Given the description of an element on the screen output the (x, y) to click on. 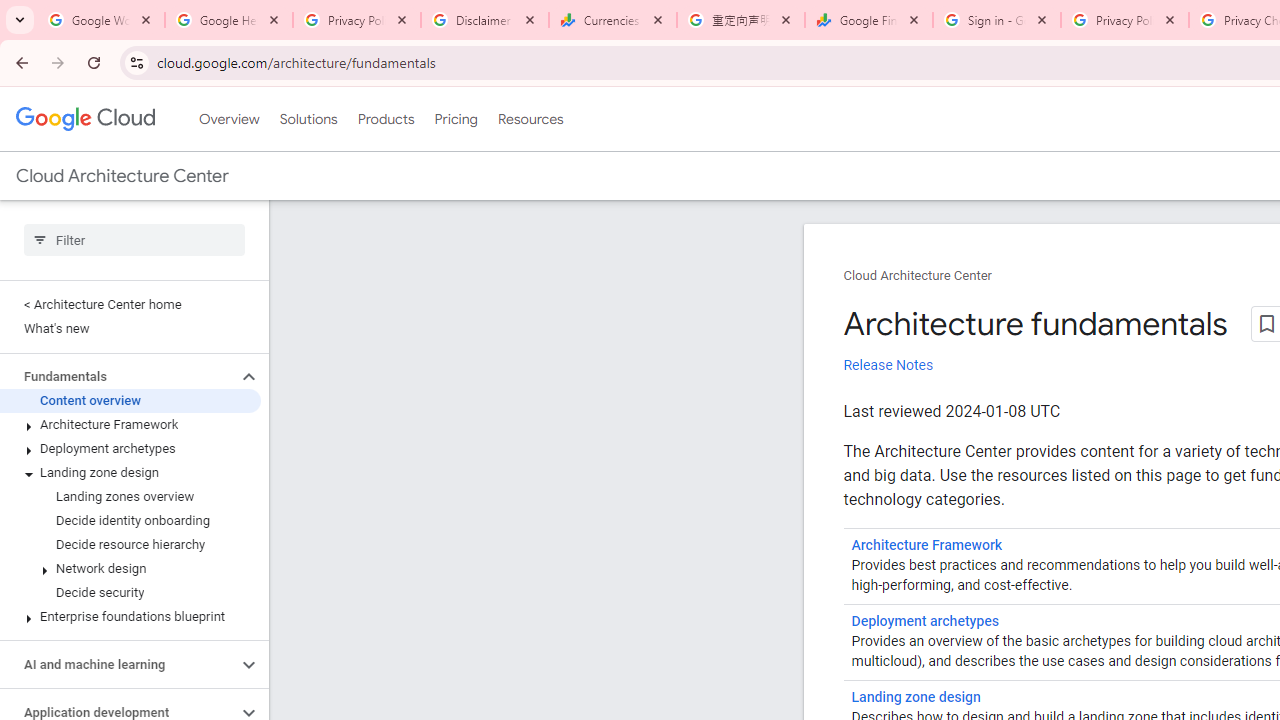
Release Notes (888, 365)
Deployment archetypes (130, 448)
< Architecture Center home (130, 304)
Decide security (130, 592)
Landing zones overview (130, 497)
Pricing (455, 119)
Type to filter (134, 239)
Solutions (308, 119)
Landing zone design (915, 697)
Cloud Architecture Center (917, 276)
Enterprise foundations blueprint (130, 616)
